Given the description of an element on the screen output the (x, y) to click on. 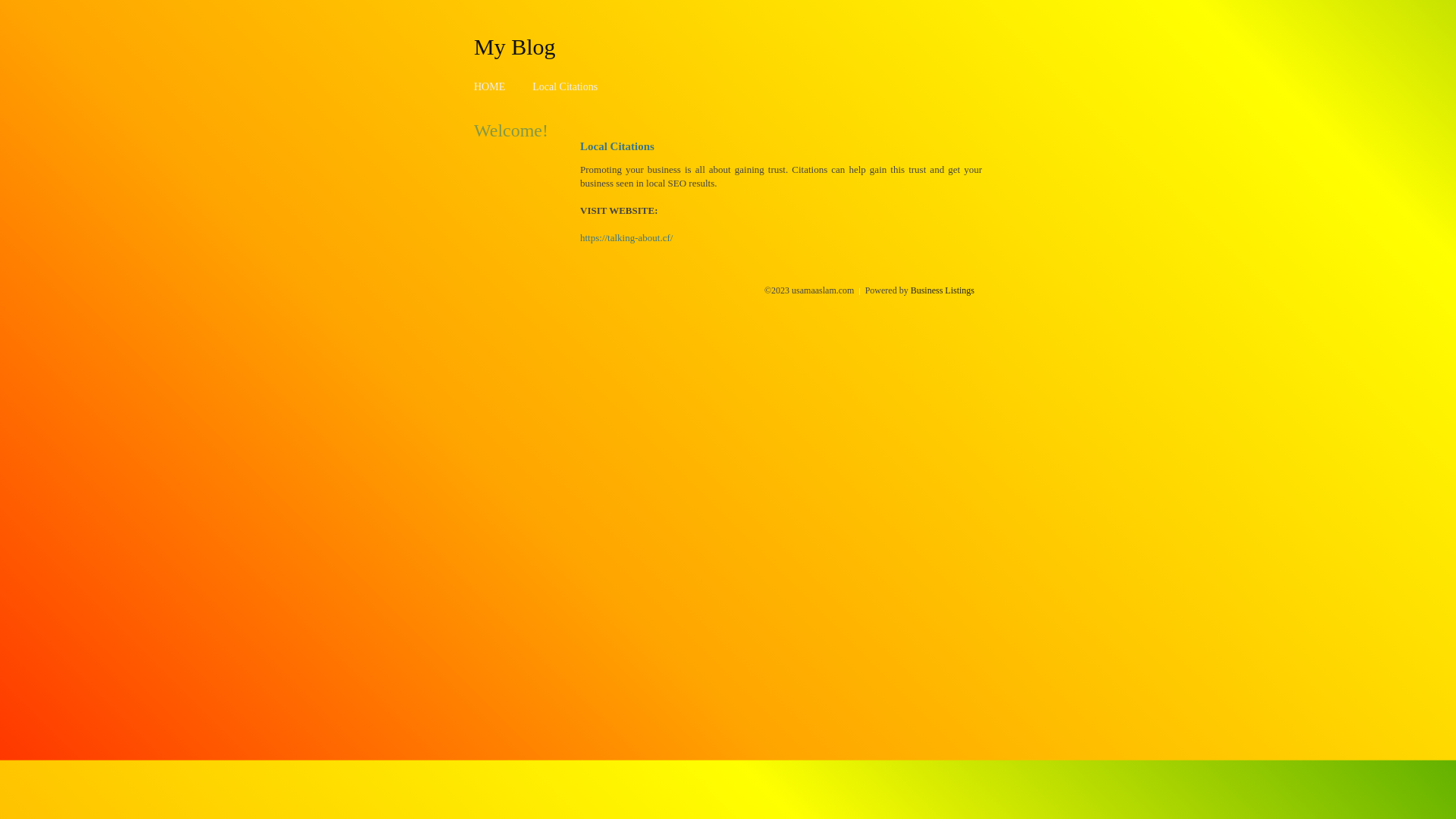
Business Listings Element type: text (942, 290)
Local Citations Element type: text (564, 86)
https://talking-about.cf/ Element type: text (626, 237)
My Blog Element type: text (514, 46)
HOME Element type: text (489, 86)
